Given the description of an element on the screen output the (x, y) to click on. 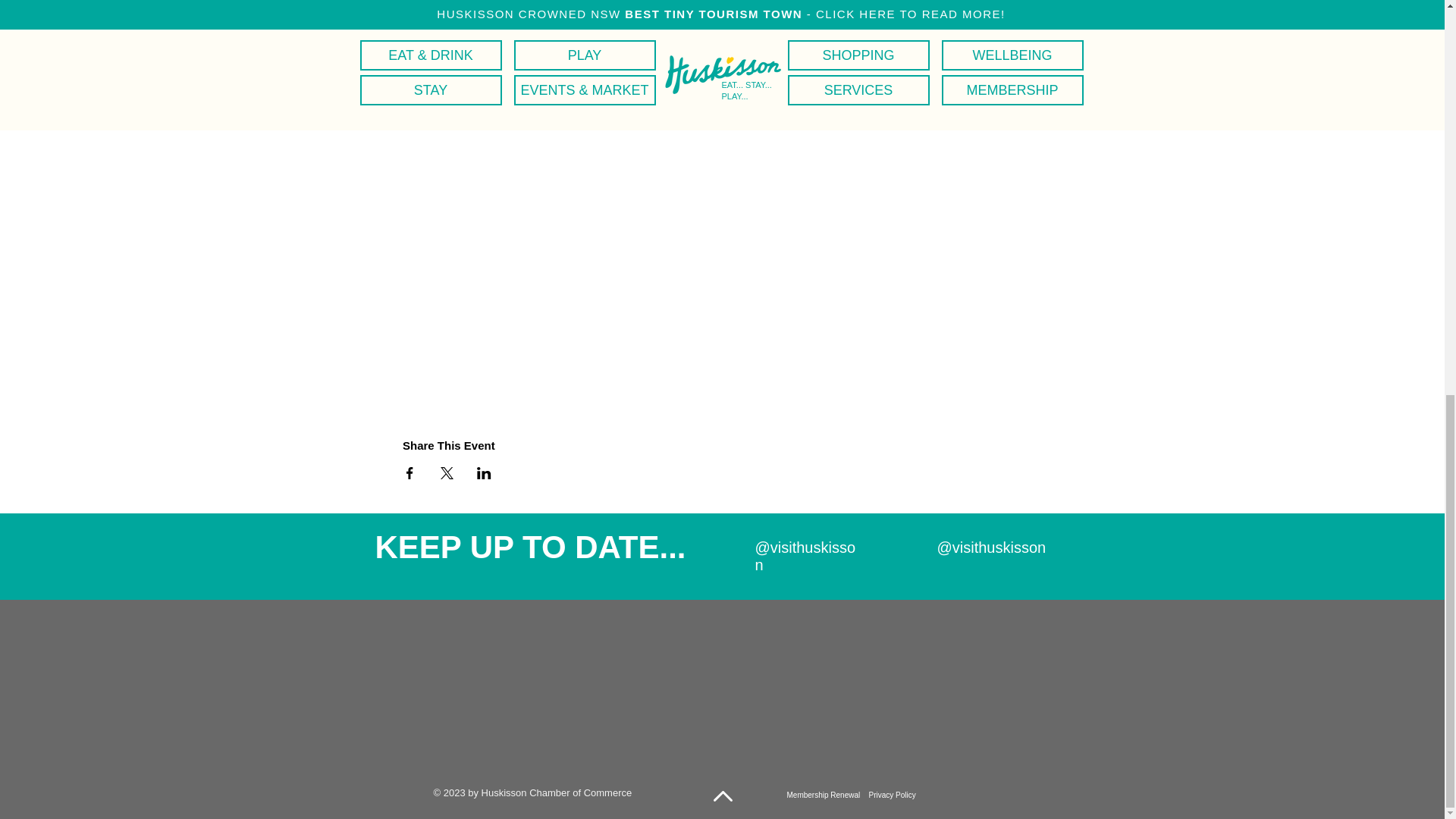
Privacy Policy (892, 795)
KEEP UP TO DATE... (529, 547)
Membership Renewal (823, 795)
